Given the description of an element on the screen output the (x, y) to click on. 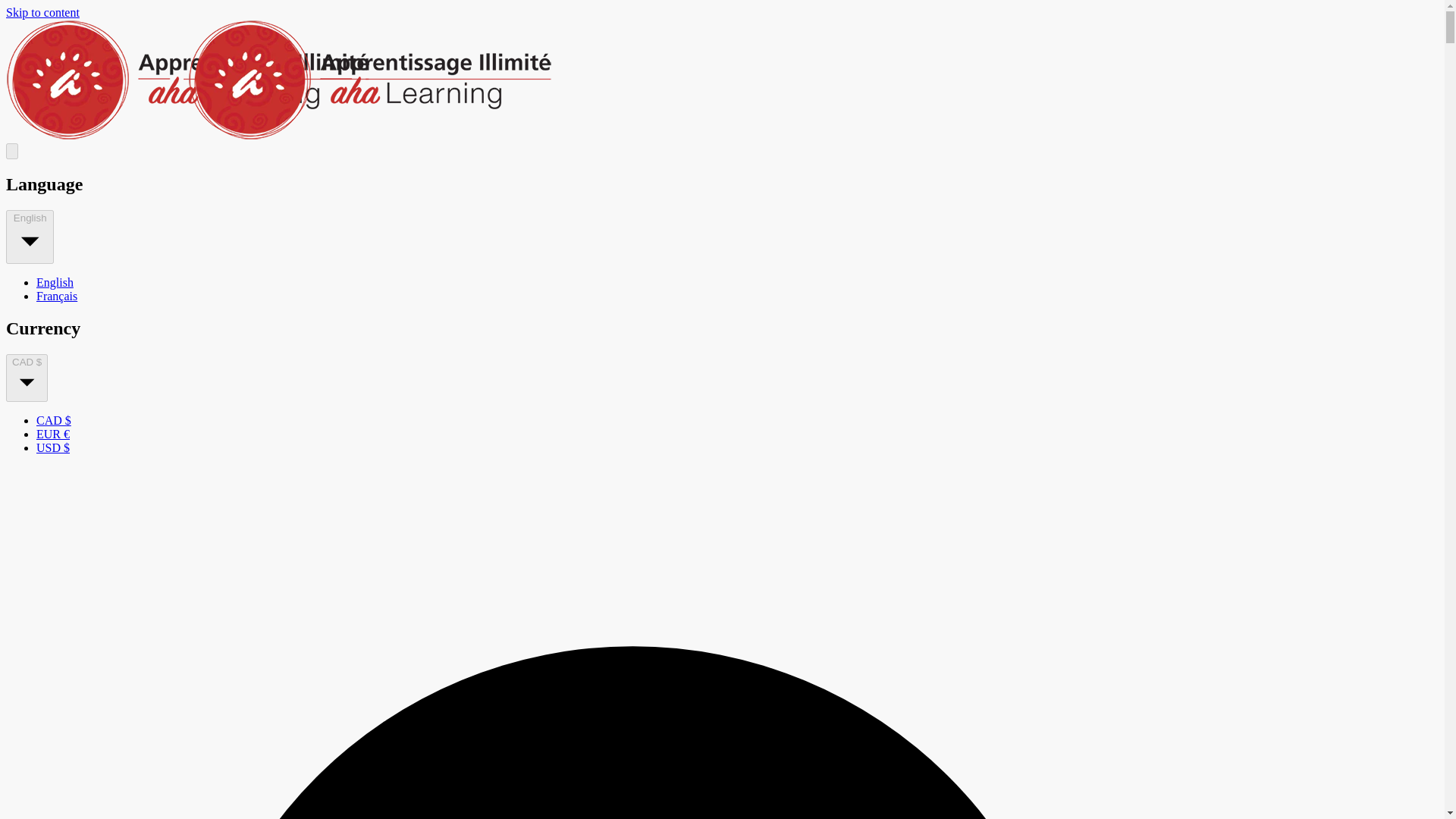
English (55, 282)
Skip to content (42, 11)
English (29, 236)
